Given the description of an element on the screen output the (x, y) to click on. 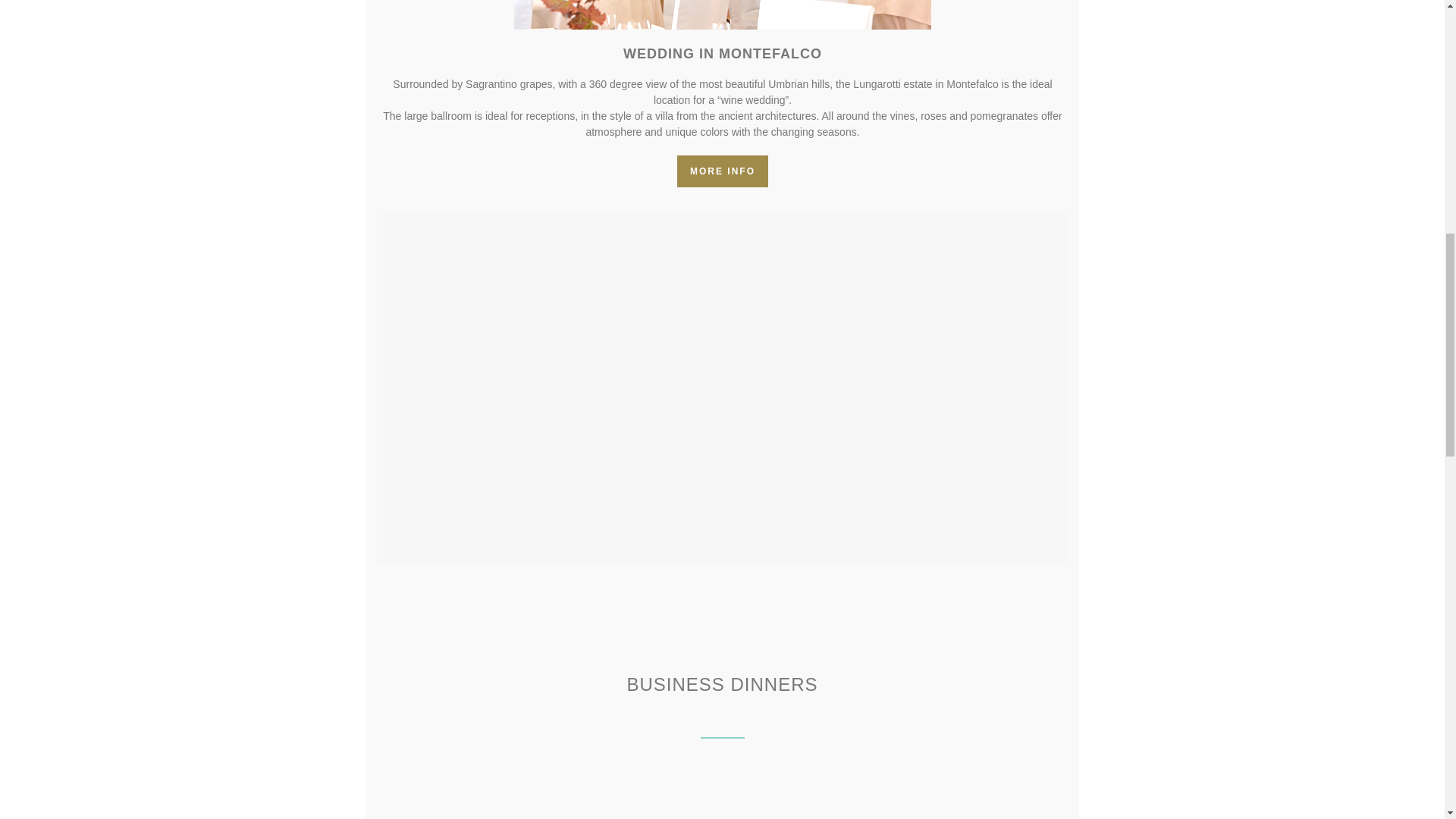
MORE INFO (722, 171)
